Given the description of an element on the screen output the (x, y) to click on. 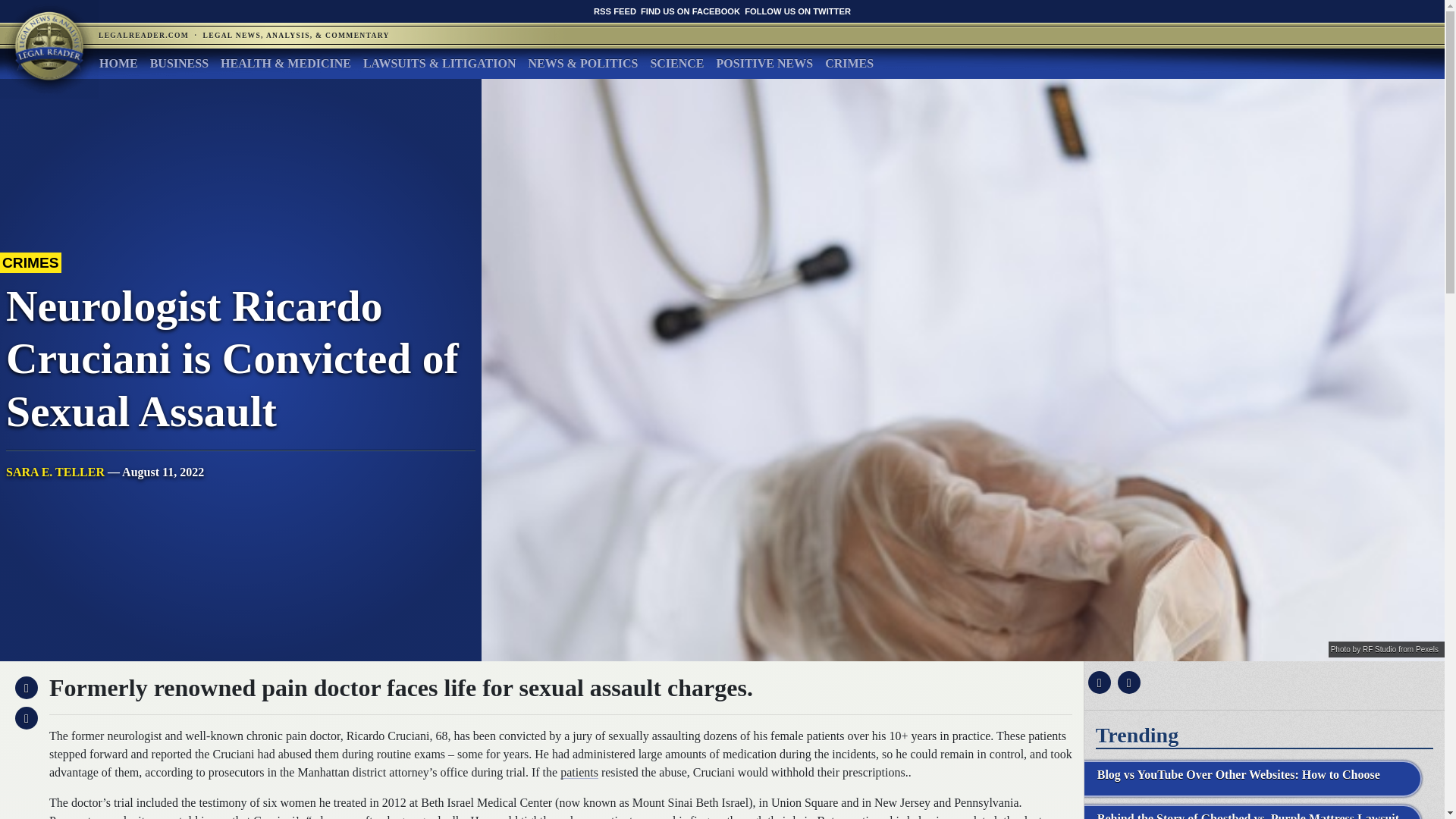
POSITIVE NEWS (764, 63)
SCIENCE (676, 63)
RSS FEED (615, 10)
Crimes (848, 63)
Follow Legal Reader on Twitter (797, 10)
FOLLOW US ON TWITTER (797, 10)
FIND US ON FACEBOOK (689, 10)
patients (579, 771)
BUSINESS (179, 63)
Share on facebook (1097, 682)
Find Legal Reader on Facebook (689, 10)
Legal Reader News Feed (615, 10)
CRIMES (848, 63)
CRIMES (30, 263)
Positive News (764, 63)
